Given the description of an element on the screen output the (x, y) to click on. 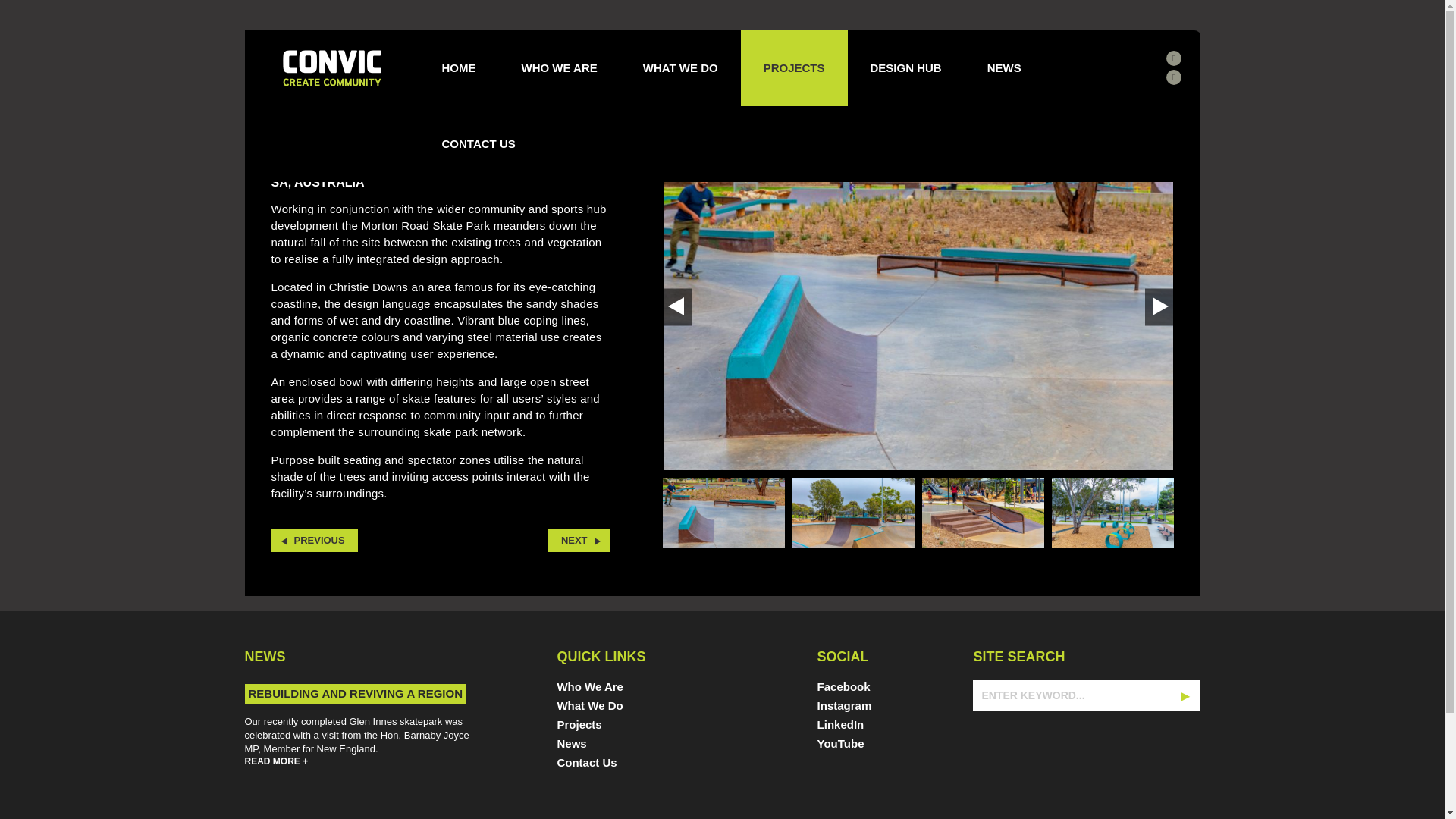
WHAT WE DO (680, 68)
REBUILDING AND REVIVING A REGION (354, 693)
Who We Are (600, 689)
NEWS (1003, 68)
HOME (458, 68)
WHO WE ARE (559, 68)
NEXT (579, 540)
PREVIOUS (314, 540)
PROJECTS (794, 68)
What We Do (600, 708)
Convic (331, 67)
DESIGN HUB (905, 68)
CONTACT US (478, 143)
